Given the description of an element on the screen output the (x, y) to click on. 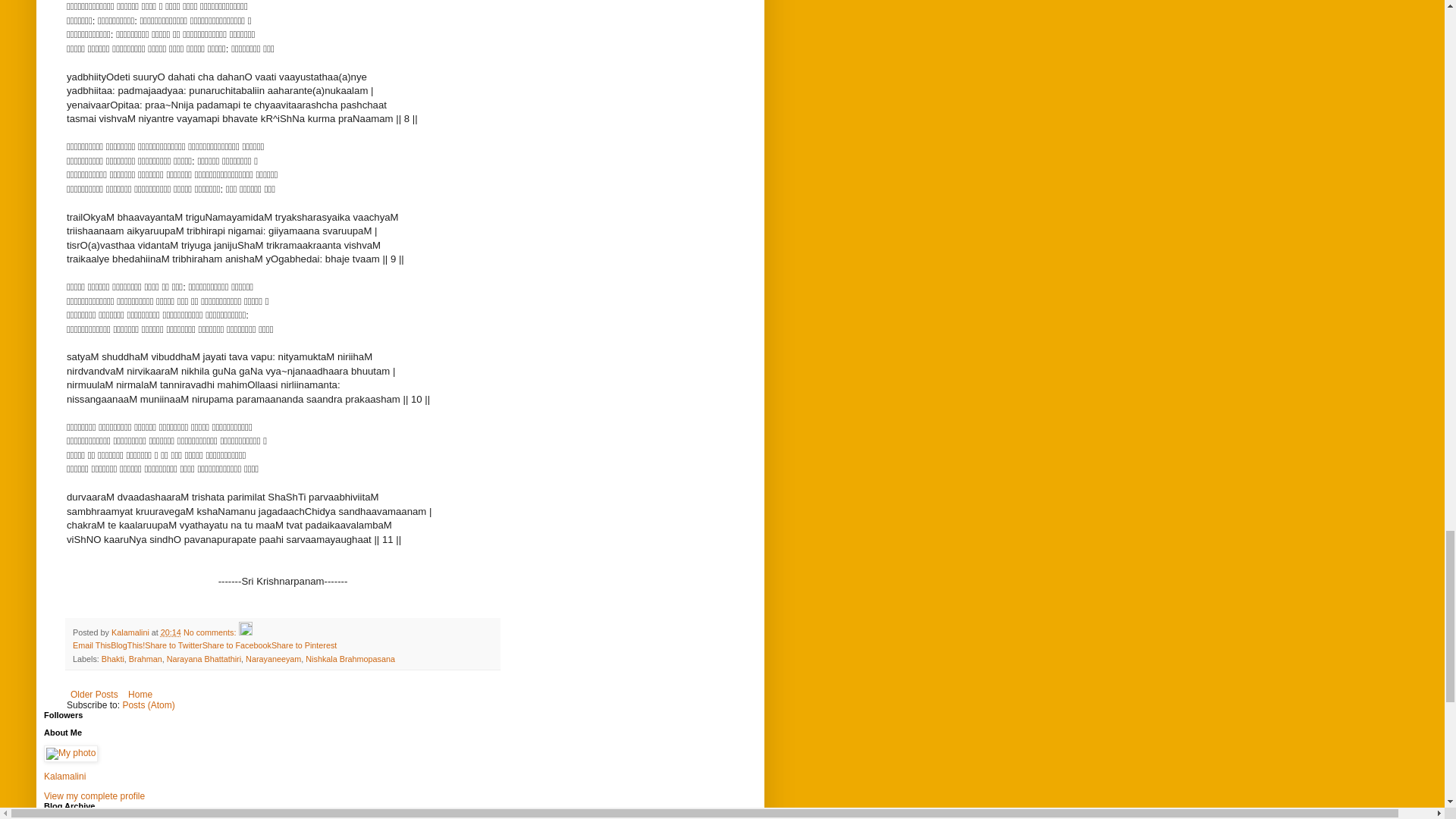
Kalamalini (64, 776)
Home (139, 694)
View my complete profile (93, 796)
Edit Post (244, 632)
author profile (131, 632)
Email This (91, 645)
Nishkala Brahmopasana (349, 658)
Brahman (145, 658)
Share to Twitter (173, 645)
Older Posts (94, 694)
Share to Facebook (236, 645)
Share to Pinterest (303, 645)
Older Posts (94, 694)
20:14 (170, 632)
No comments: (210, 632)
